Given the description of an element on the screen output the (x, y) to click on. 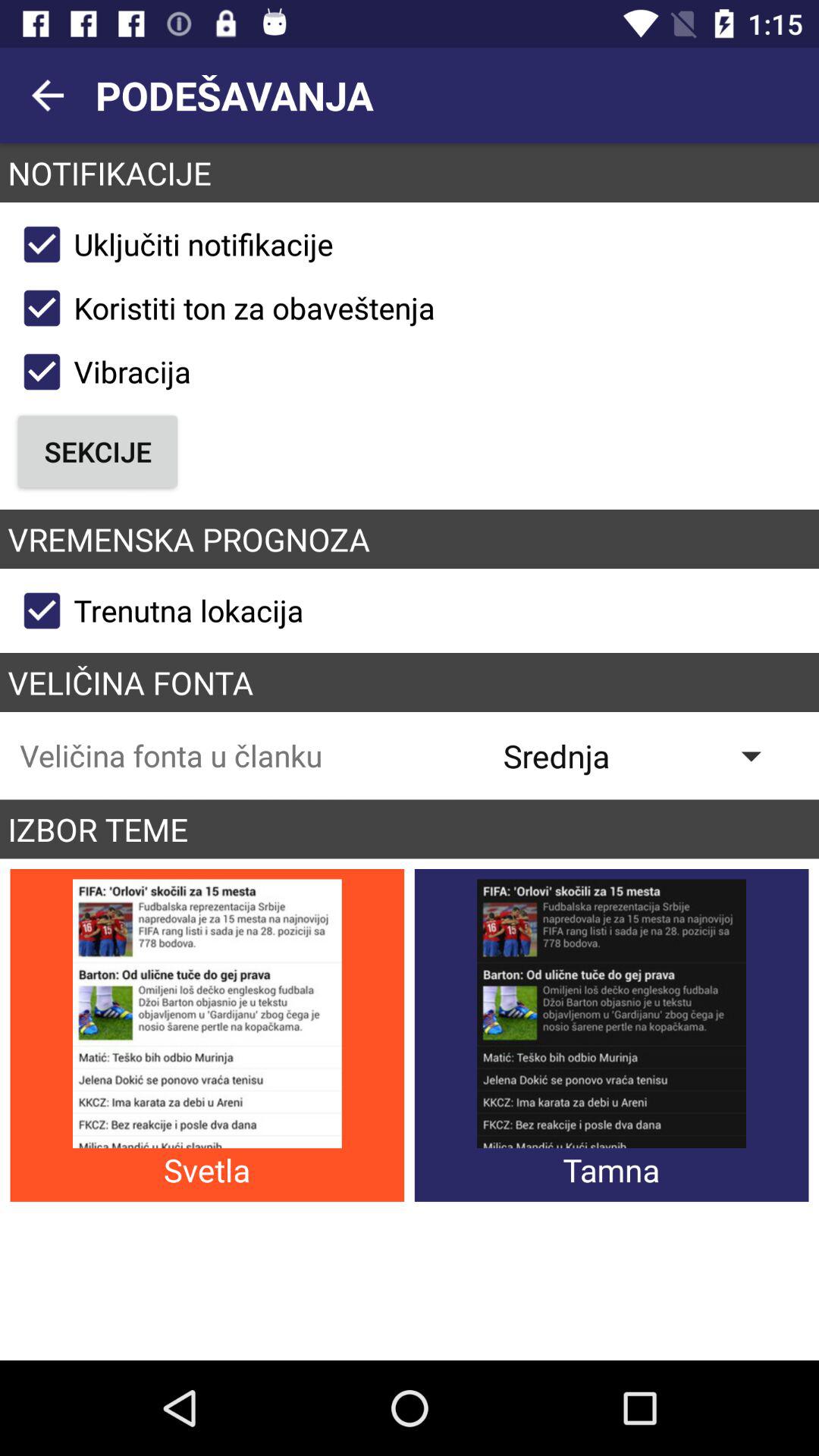
select the code sekcije (97, 451)
select drop down (643, 755)
select the text above sekcije (100, 372)
click the check box above second (222, 308)
